Given the description of an element on the screen output the (x, y) to click on. 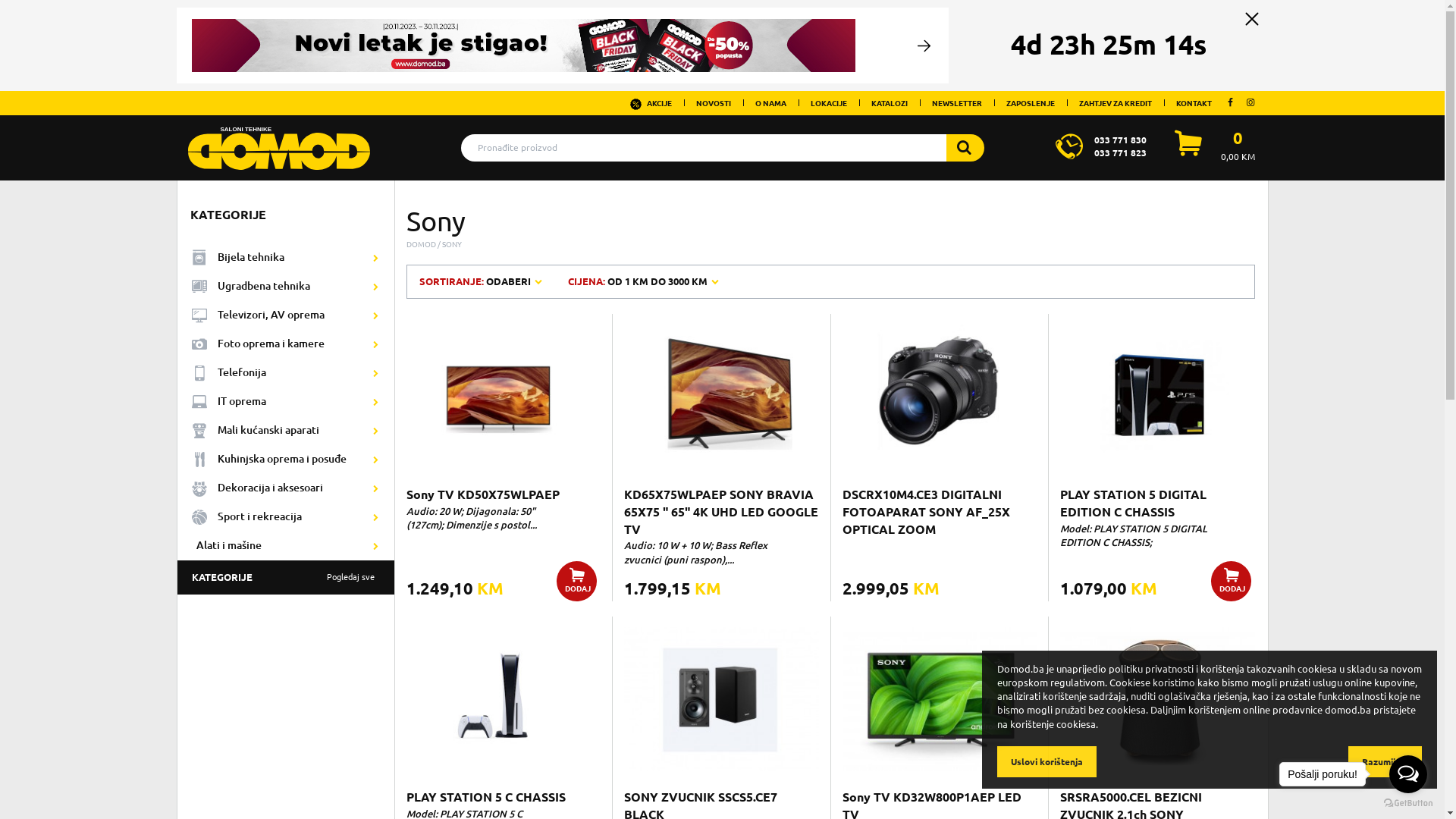
NOVOSTI Element type: text (713, 102)
AKCIJE Element type: text (651, 102)
Ugradbena tehnika Element type: text (286, 286)
DODAJ Element type: text (576, 581)
LOKACIJE Element type: text (828, 102)
SONY Element type: text (451, 243)
Telefonija Element type: text (286, 372)
Bijela tehnika Element type: text (286, 257)
Domod Element type: hover (279, 142)
O NAMA Element type: text (770, 102)
Foto oprema i kamere Element type: text (286, 343)
Dekoracija i aksesoari Element type: text (286, 487)
KONTAKT Element type: text (1193, 102)
KATALOZI Element type: text (889, 102)
ZAHTJEV ZA KREDIT Element type: text (1115, 102)
ZAPOSLENJE Element type: text (1030, 102)
NEWSLETTER Element type: text (956, 102)
KATEGORIJE Pogledaj sve Element type: text (286, 577)
Televizori, AV oprema Element type: text (286, 315)
CIJENA: OD 1 KM DO 3000 KM Element type: text (643, 281)
0
0,00 KM Element type: text (1237, 144)
Razumijem Element type: text (1384, 761)
DOMOD Element type: text (421, 243)
Moja korpa Element type: hover (1188, 151)
SORTIRANJE: ODABERI Element type: text (481, 281)
IT oprema Element type: text (286, 401)
Sport i rekreacija Element type: text (286, 516)
DODAJ Element type: text (1231, 581)
